Given the description of an element on the screen output the (x, y) to click on. 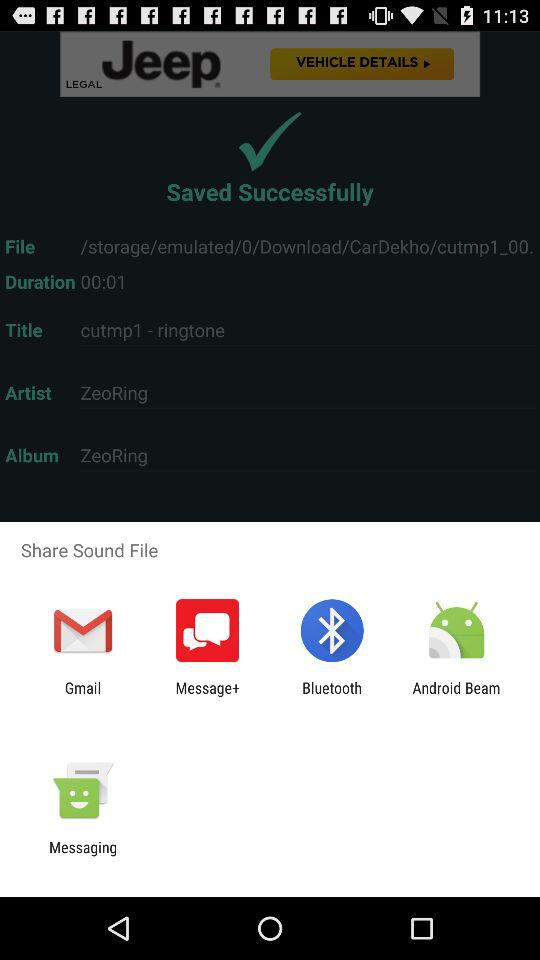
click icon at the bottom right corner (456, 696)
